Given the description of an element on the screen output the (x, y) to click on. 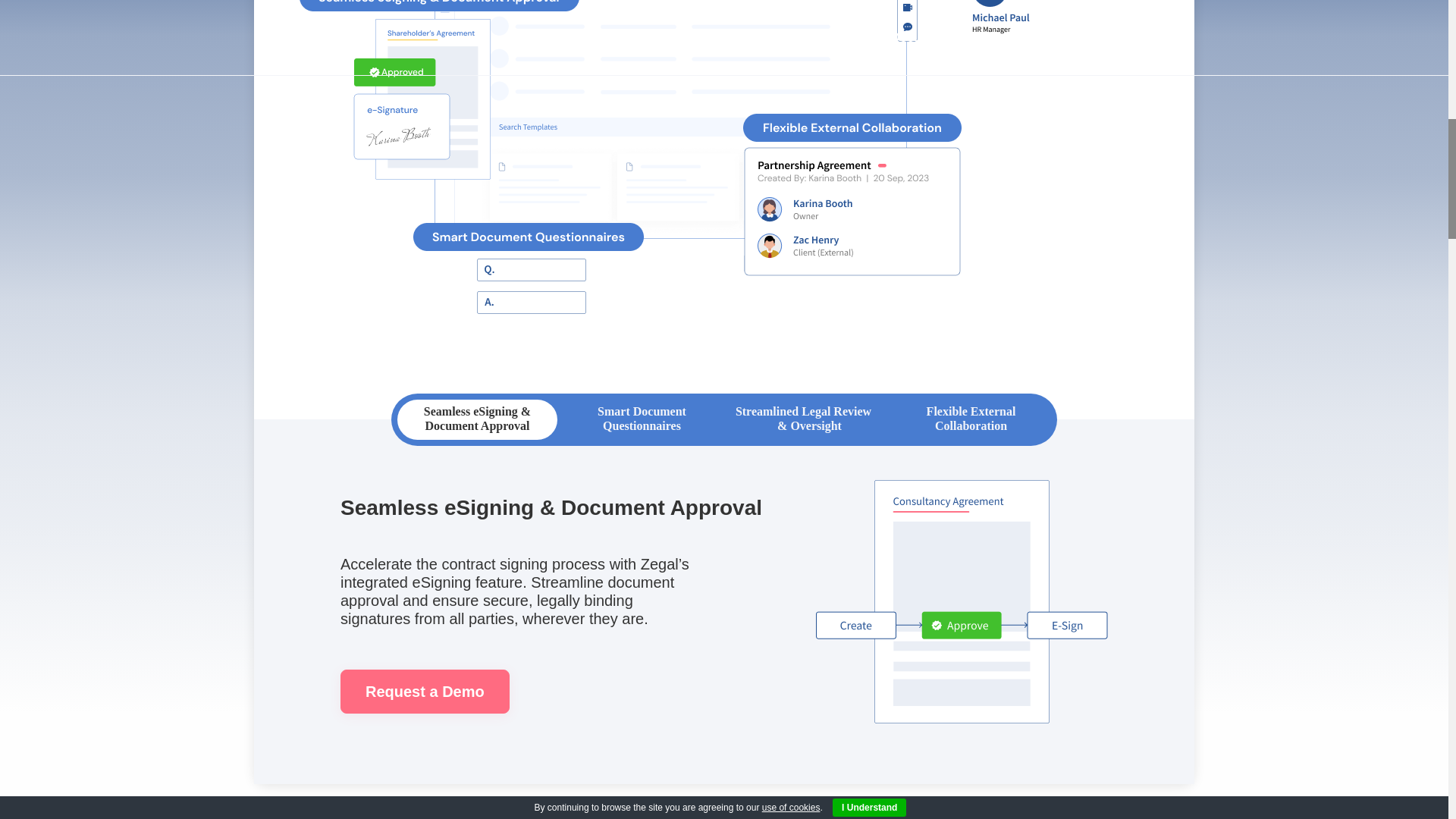
Home Banner Image (961, 601)
Request a Demo (424, 691)
Flexible External Collaboration (970, 418)
Smart Document Questionnaires (641, 418)
